Given the description of an element on the screen output the (x, y) to click on. 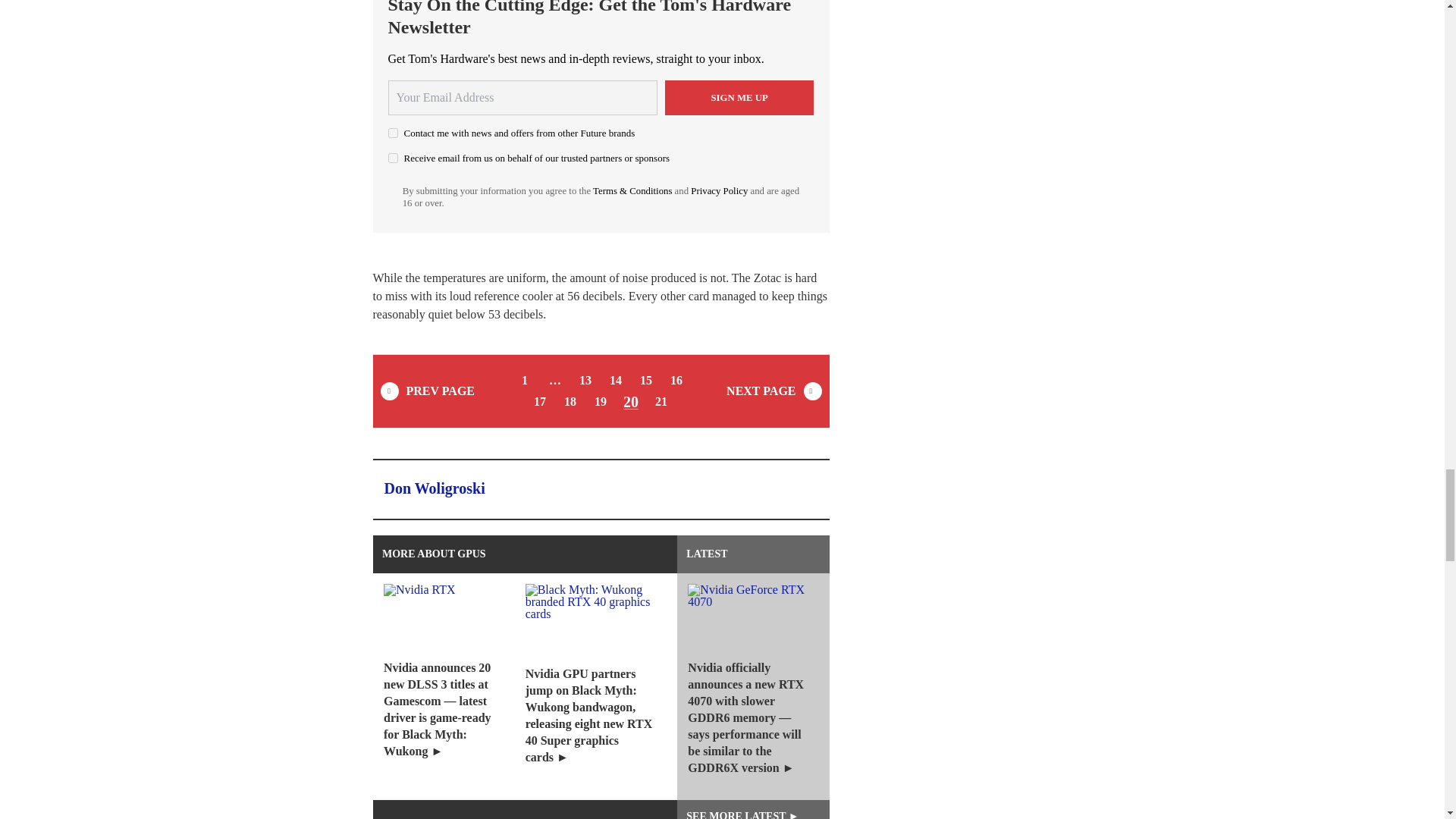
on (392, 132)
Sign me up (739, 97)
on (392, 157)
